Given the description of an element on the screen output the (x, y) to click on. 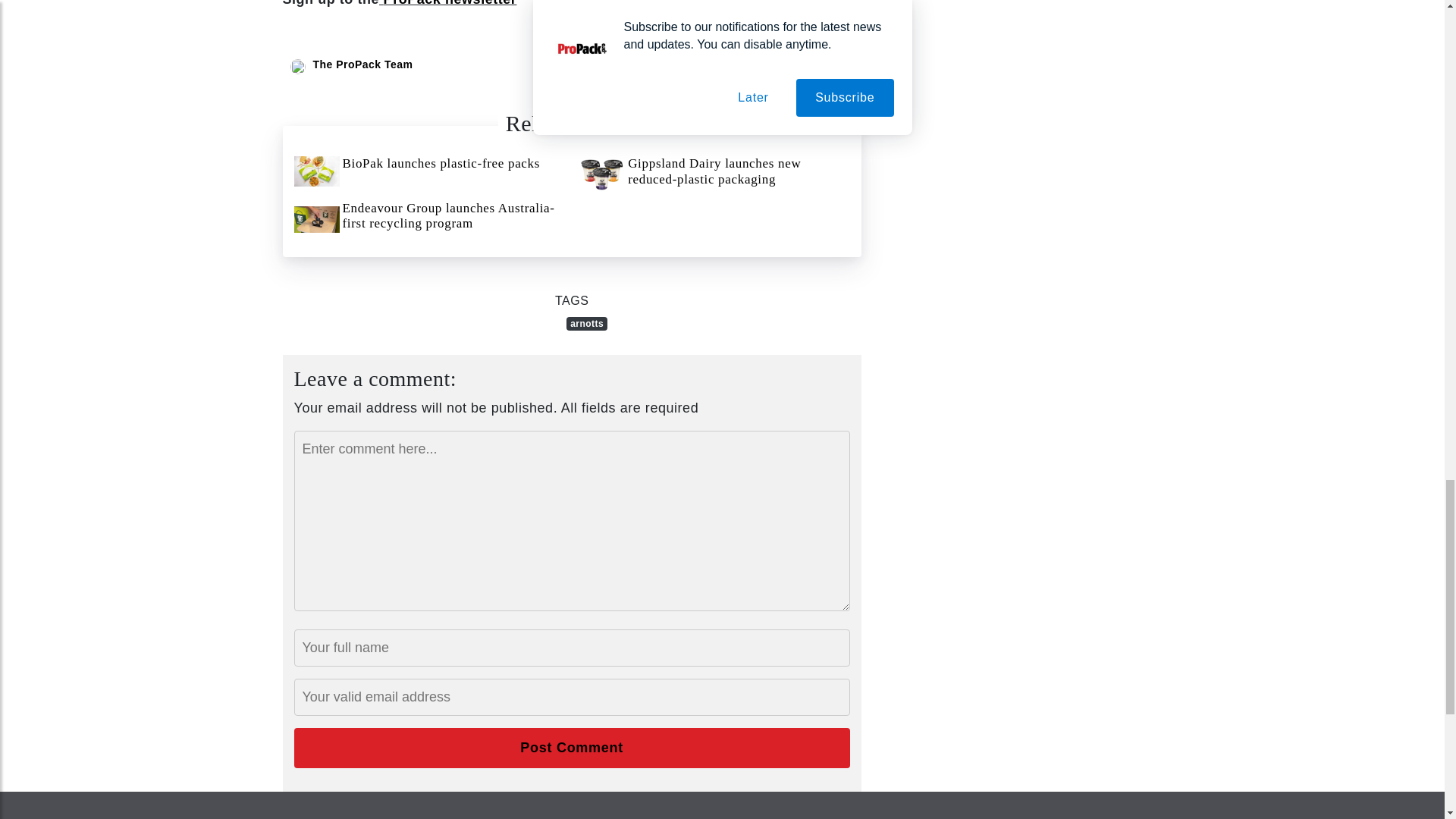
BioPak launches plastic-free packs (429, 171)
ProPack newsletter (450, 3)
Gippsland Dairy launches new reduced-plastic packaging (714, 174)
Post Comment (572, 748)
Post Comment (572, 748)
The ProPack Team (362, 64)
arnotts (586, 323)
Endeavour Group launches Australia-first recycling program (429, 219)
